Given the description of an element on the screen output the (x, y) to click on. 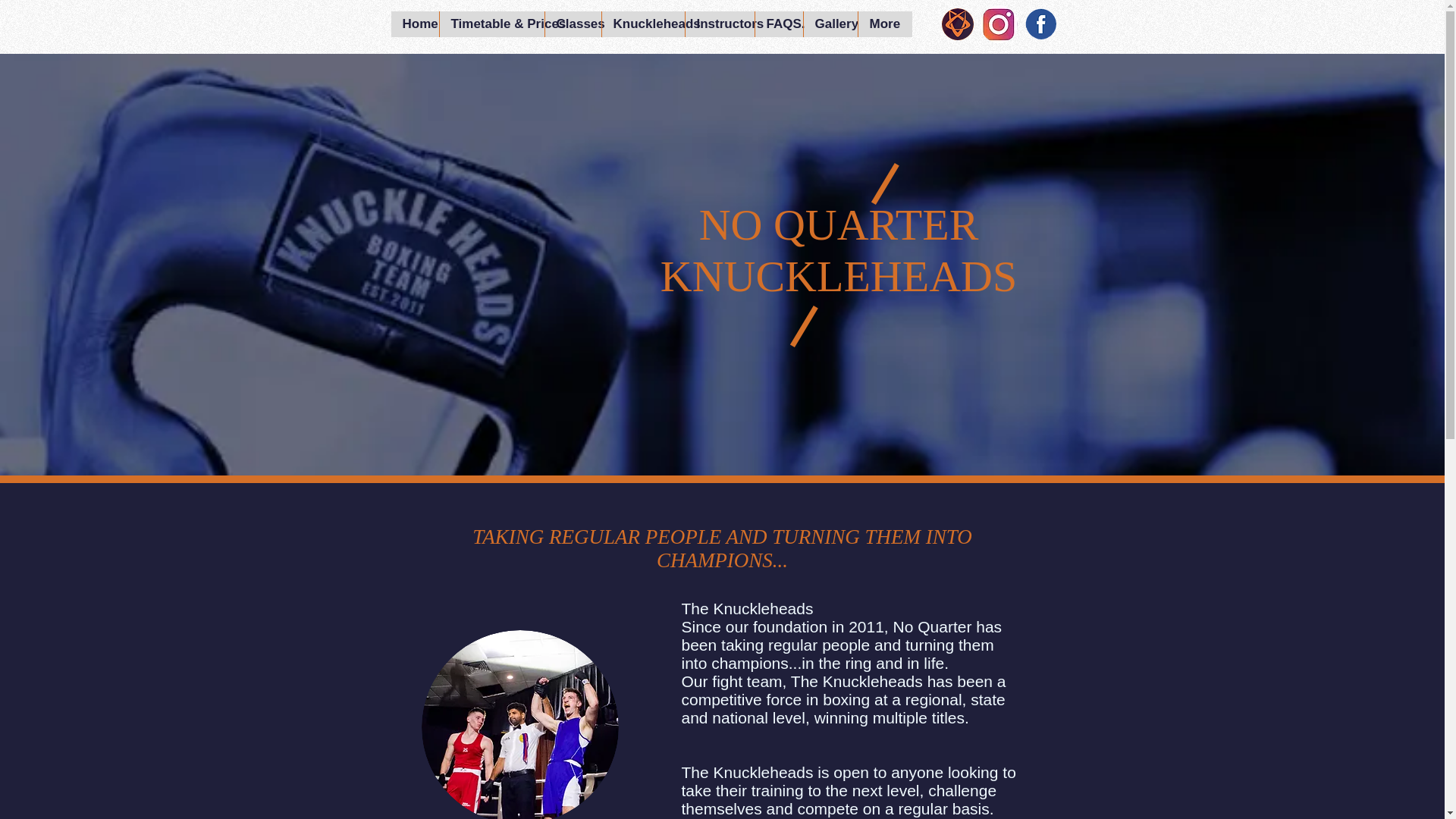
Classes (572, 23)
Screen Shot 2020-01-07 at 11.17.28 pm.pn (520, 724)
Instructors (719, 23)
Gallery (829, 23)
Home (415, 23)
Knuckleheads (641, 23)
FAQS. (778, 23)
